Given the description of an element on the screen output the (x, y) to click on. 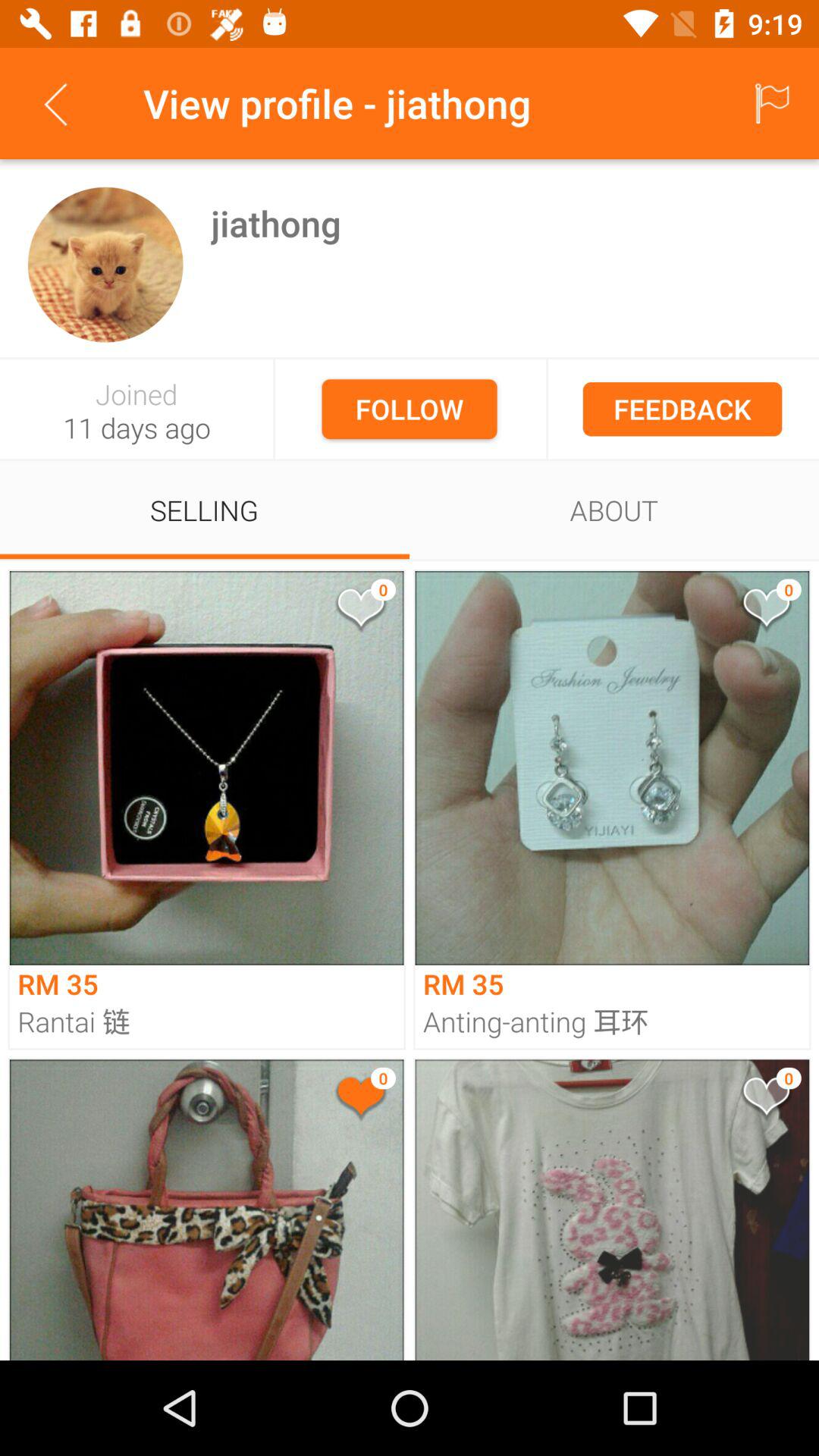
like the product (765, 610)
